Given the description of an element on the screen output the (x, y) to click on. 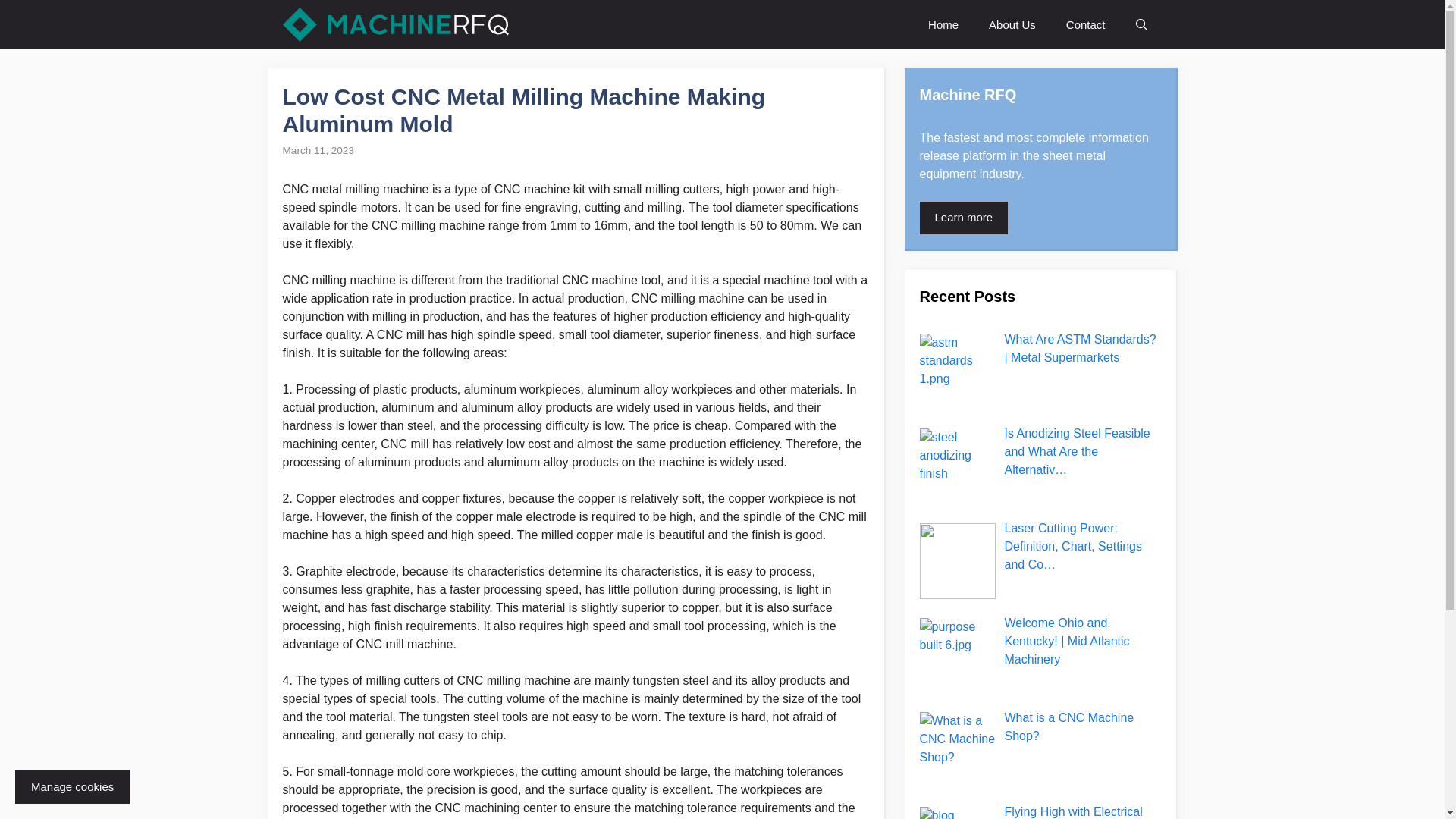
Learn more (962, 217)
Manage cookies (71, 787)
Contact (1086, 24)
What is a CNC Machine Shop? (1069, 726)
Home (943, 24)
Machine RFQ (395, 24)
About Us (1012, 24)
